Given the description of an element on the screen output the (x, y) to click on. 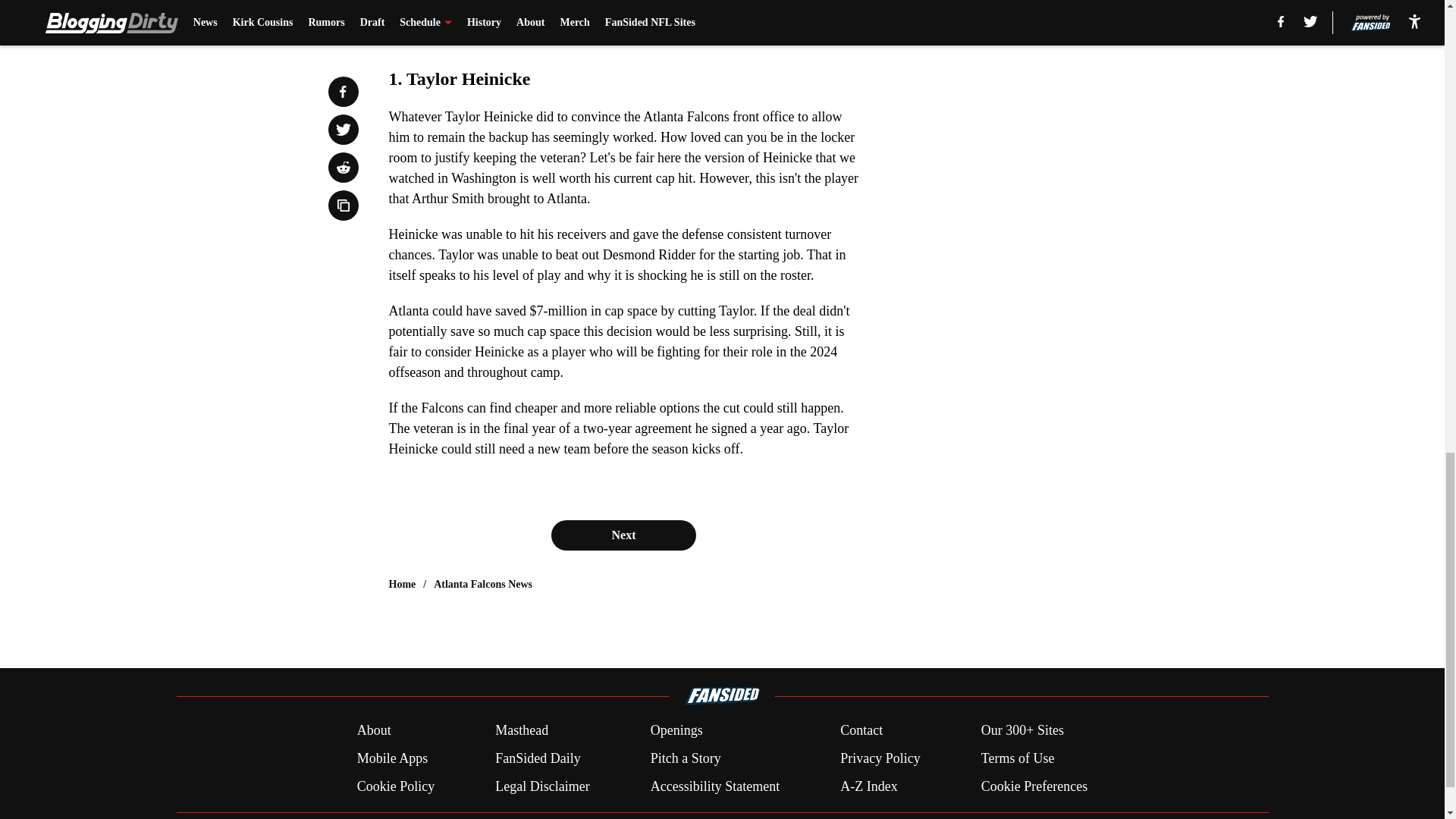
Atlanta Falcons News (482, 584)
Pitch a Story (685, 758)
About (373, 730)
Masthead (521, 730)
Privacy Policy (880, 758)
Mobile Apps (392, 758)
Openings (676, 730)
Cookie Policy (395, 786)
Legal Disclaimer (542, 786)
Next (622, 535)
Contact (861, 730)
Home (401, 584)
FanSided Daily (537, 758)
Terms of Use (1017, 758)
